Given the description of an element on the screen output the (x, y) to click on. 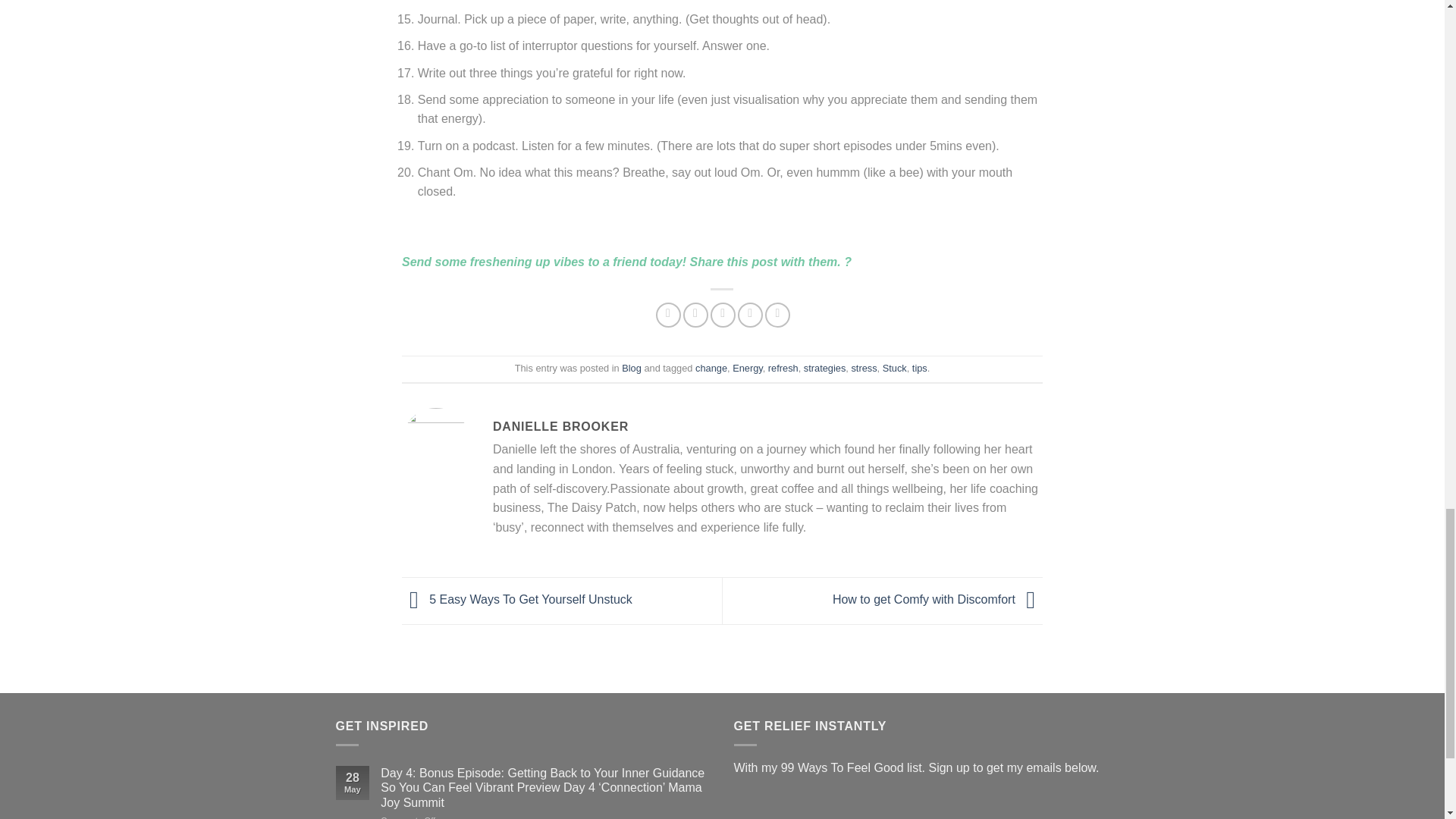
stress (863, 367)
Stuck (894, 367)
Share on Facebook (668, 314)
Email to a Friend (722, 314)
refresh (782, 367)
Blog (631, 367)
Energy (747, 367)
Share on LinkedIn (777, 314)
strategies (824, 367)
change (710, 367)
Pin on Pinterest (750, 314)
Share on Twitter (694, 314)
